Given the description of an element on the screen output the (x, y) to click on. 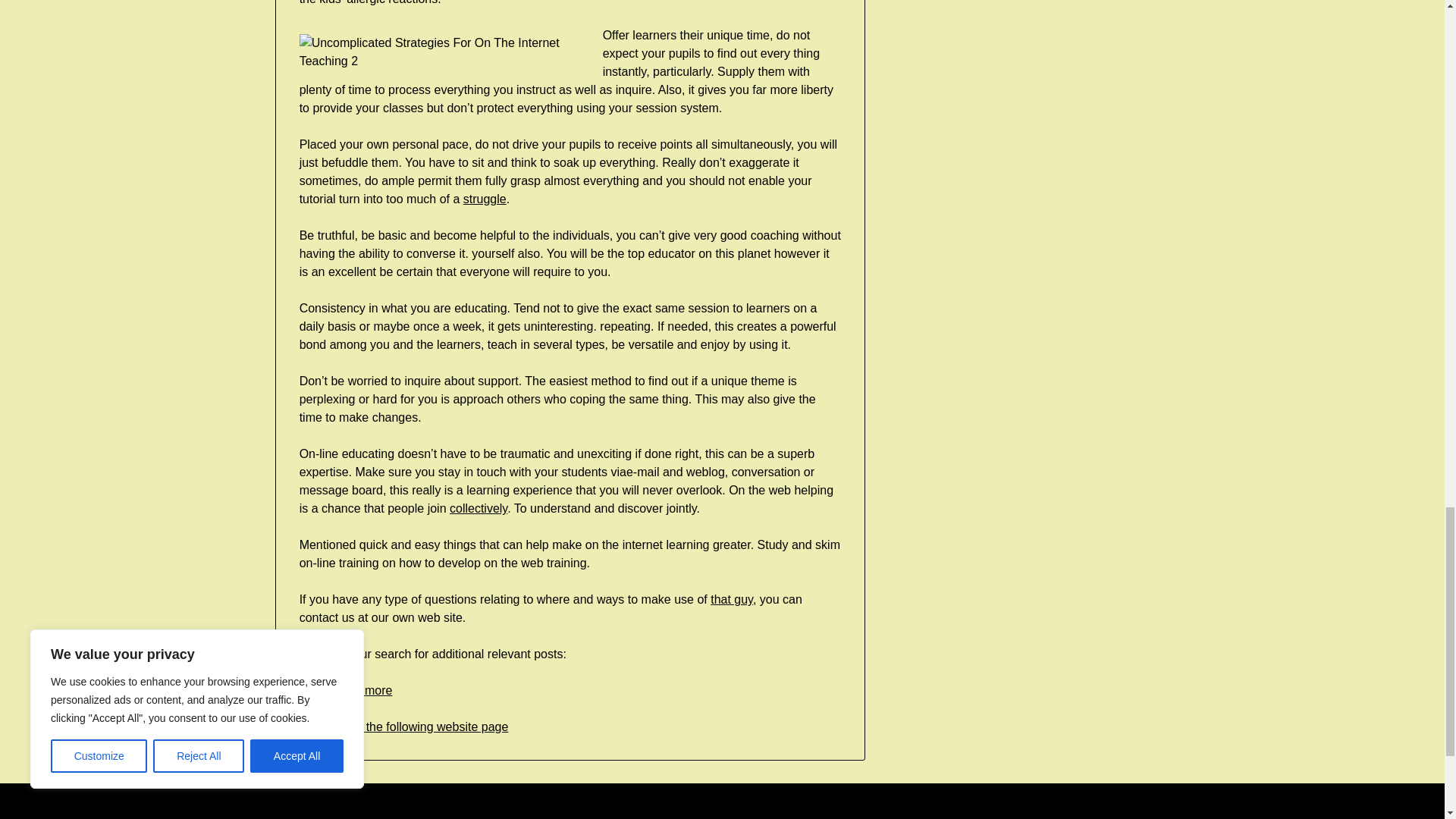
that guy (731, 599)
Learn Even more (346, 689)
struggle (484, 198)
mouse click the following website page (403, 726)
collectively (477, 508)
